Given the description of an element on the screen output the (x, y) to click on. 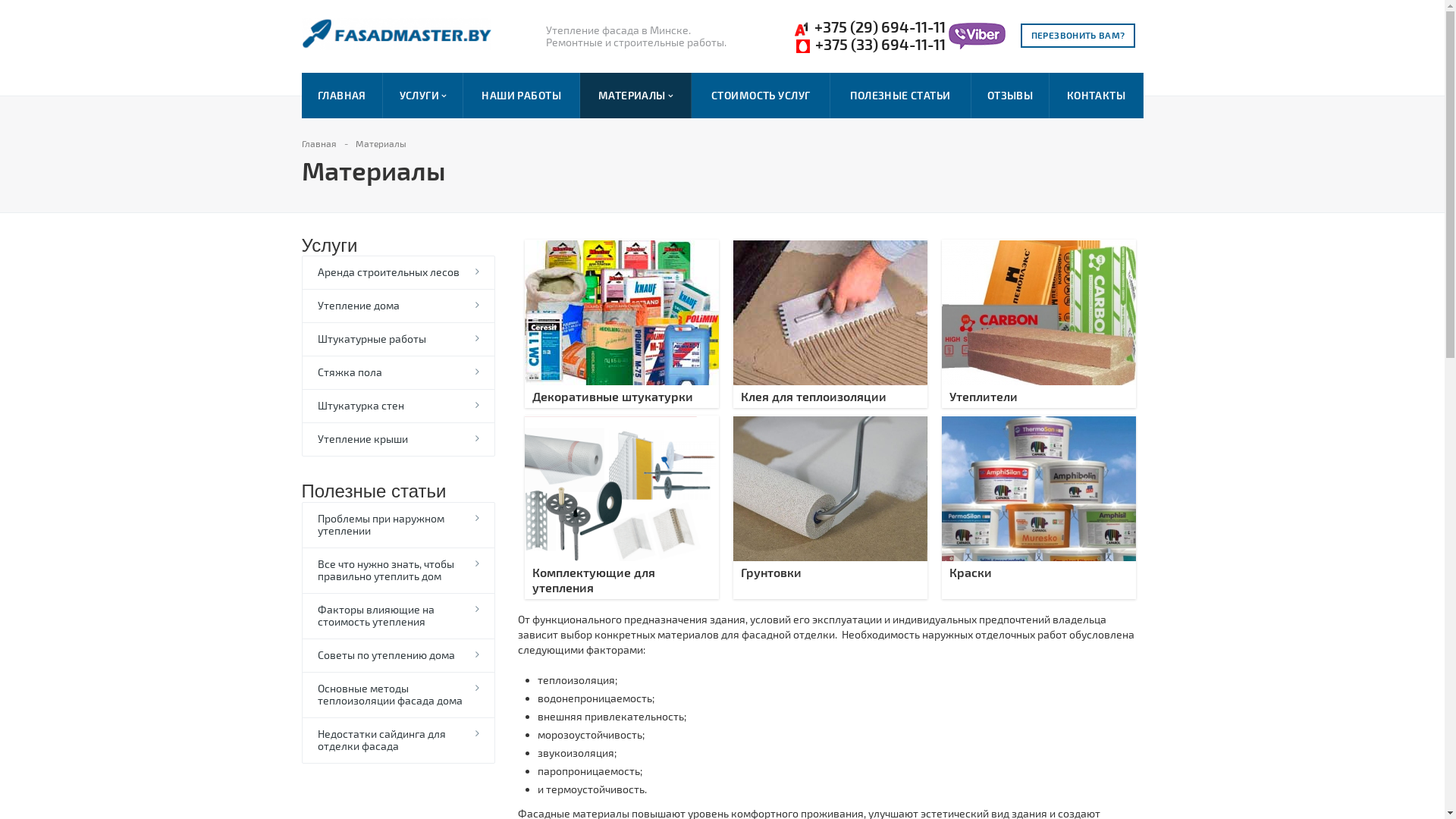
Fasadmaster.by Element type: hover (396, 34)
+375 (29) 694-11-11 Element type: text (869, 27)
+375 (33) 694-11-11 Element type: text (869, 44)
